Given the description of an element on the screen output the (x, y) to click on. 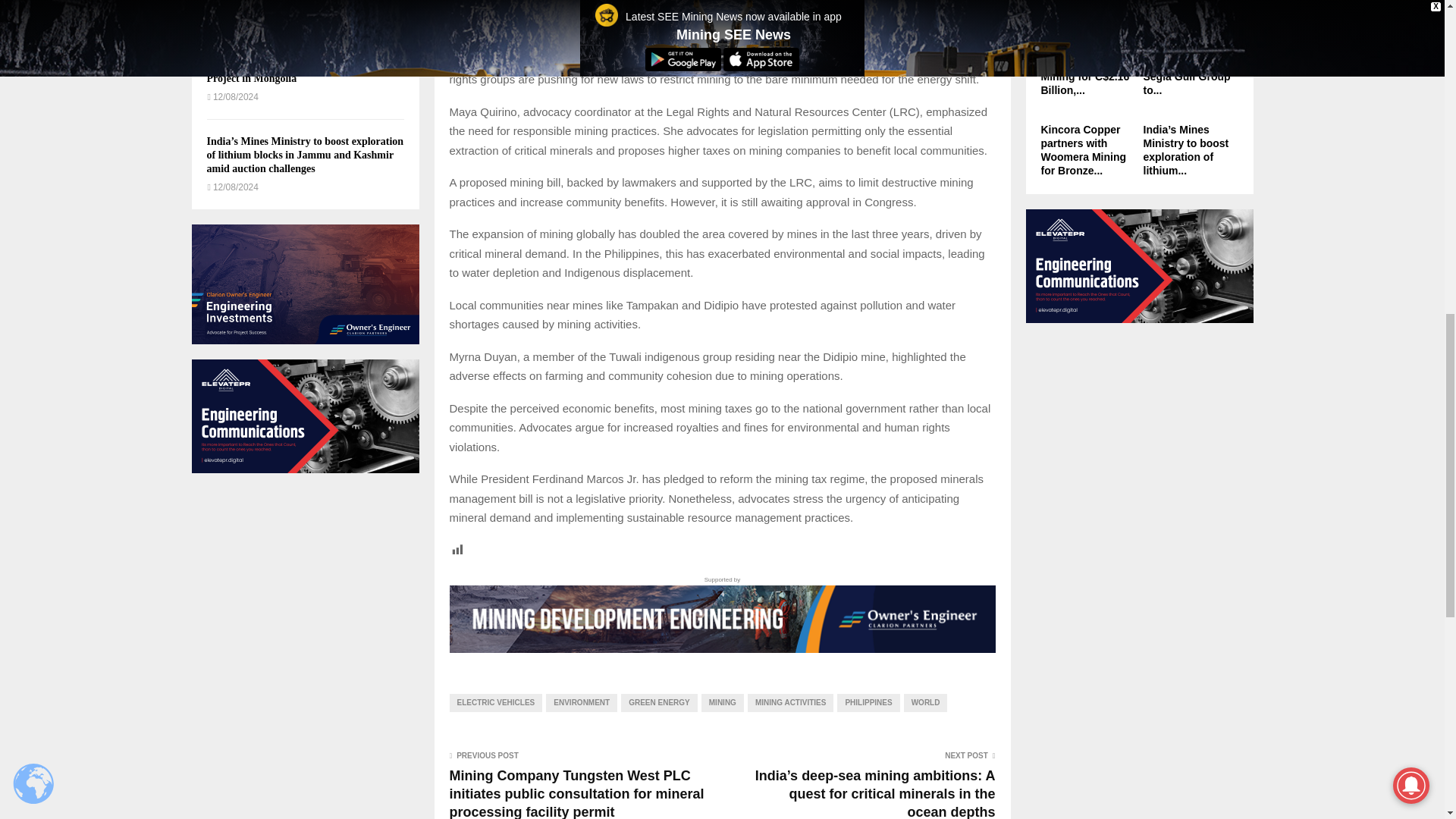
ELECTRIC VEHICLES (494, 702)
ENVIRONMENT (581, 702)
WORLD (925, 702)
MINING ACTIVITIES (791, 702)
GREEN ENERGY (659, 702)
Supported by (721, 613)
MINING (722, 702)
PHILIPPINES (868, 702)
